Given the description of an element on the screen output the (x, y) to click on. 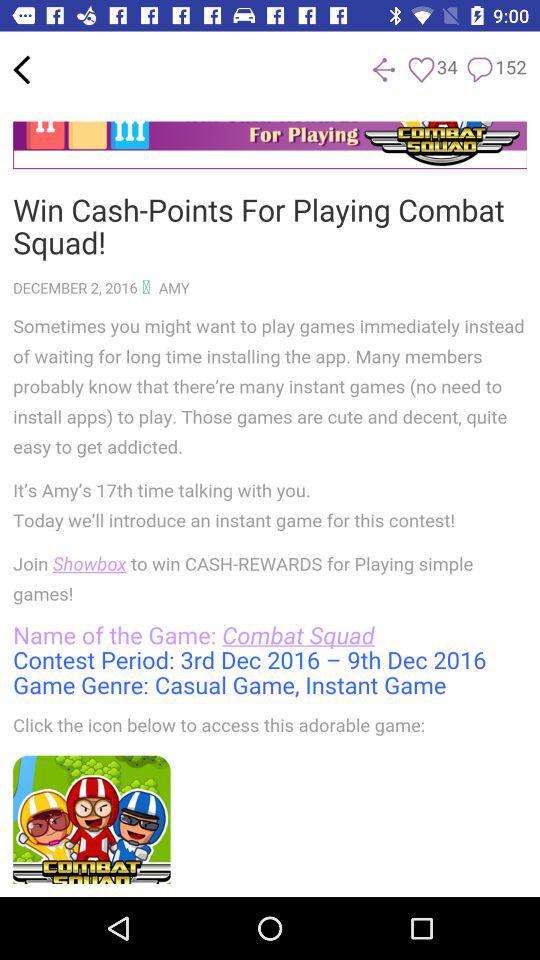
go back button option (384, 69)
